Given the description of an element on the screen output the (x, y) to click on. 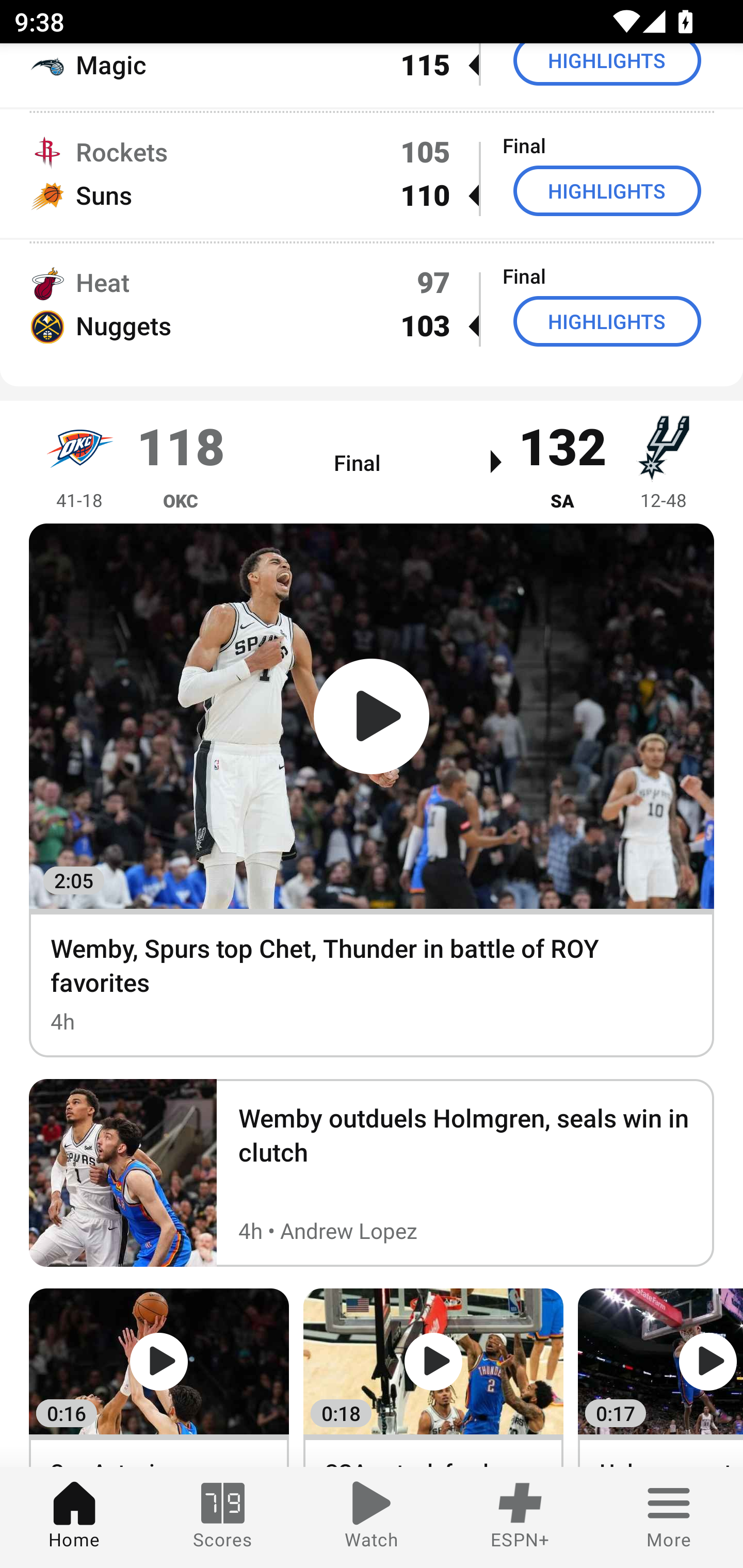
Magic 115  HIGHLIGHTS (371, 74)
HIGHLIGHTS (607, 64)
Rockets 105 Final Suns 110  HIGHLIGHTS (371, 173)
HIGHLIGHTS (607, 191)
Heat 97 Final Nuggets 103  HIGHLIGHTS (371, 303)
HIGHLIGHTS (607, 321)
 0:18 SGA puts defender on a poster (433, 1377)
 0:17 Holmgren catches lob for a reverse dunk (660, 1377)
Scores (222, 1517)
Watch (371, 1517)
ESPN+ (519, 1517)
More (668, 1517)
